Given the description of an element on the screen output the (x, y) to click on. 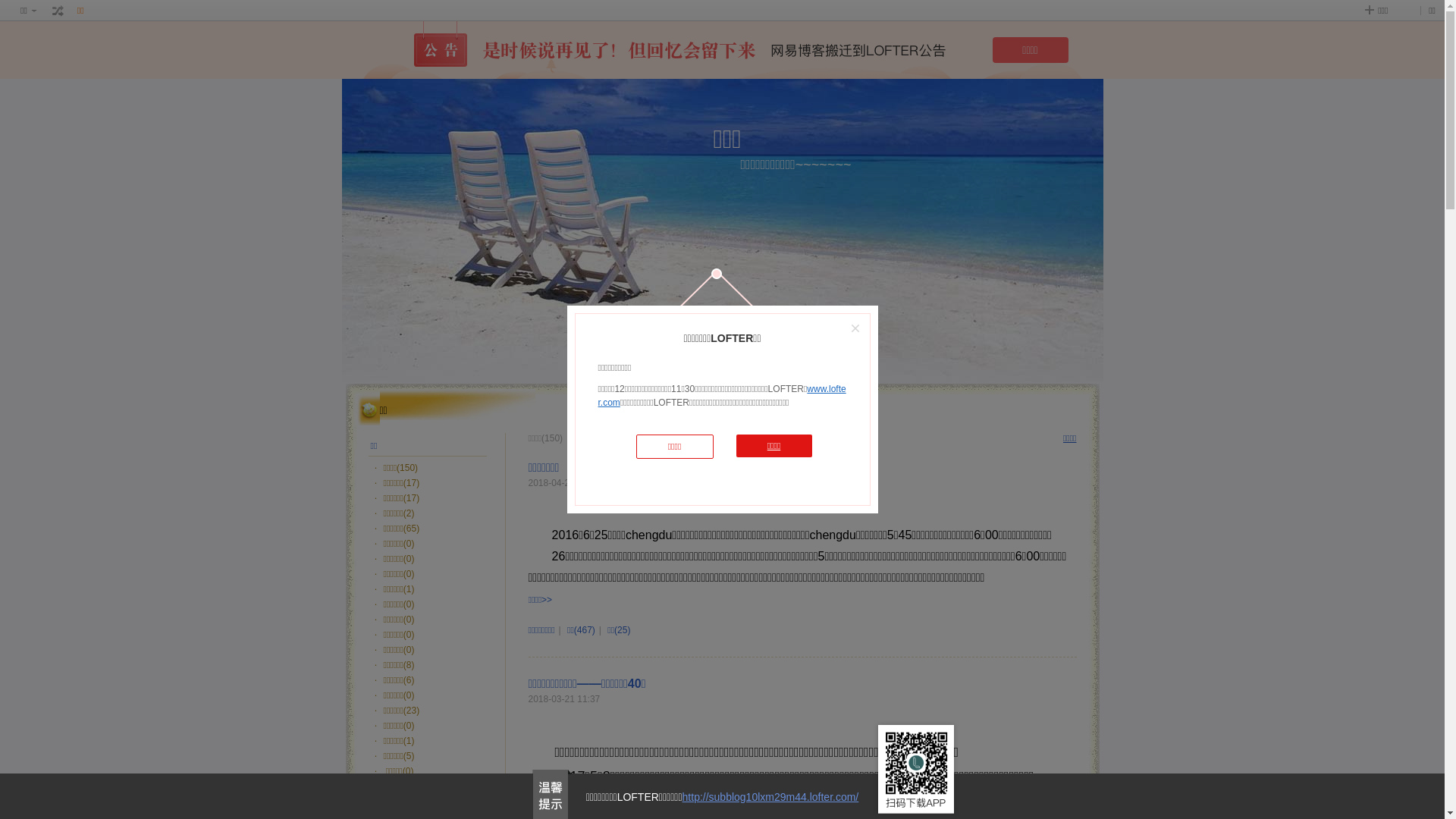
www.lofter.com Element type: text (721, 395)
http://subblog10lxm29m44.lofter.com/ Element type: text (770, 796)
  Element type: text (58, 10)
LOFTER Element type: text (689, 352)
